Given the description of an element on the screen output the (x, y) to click on. 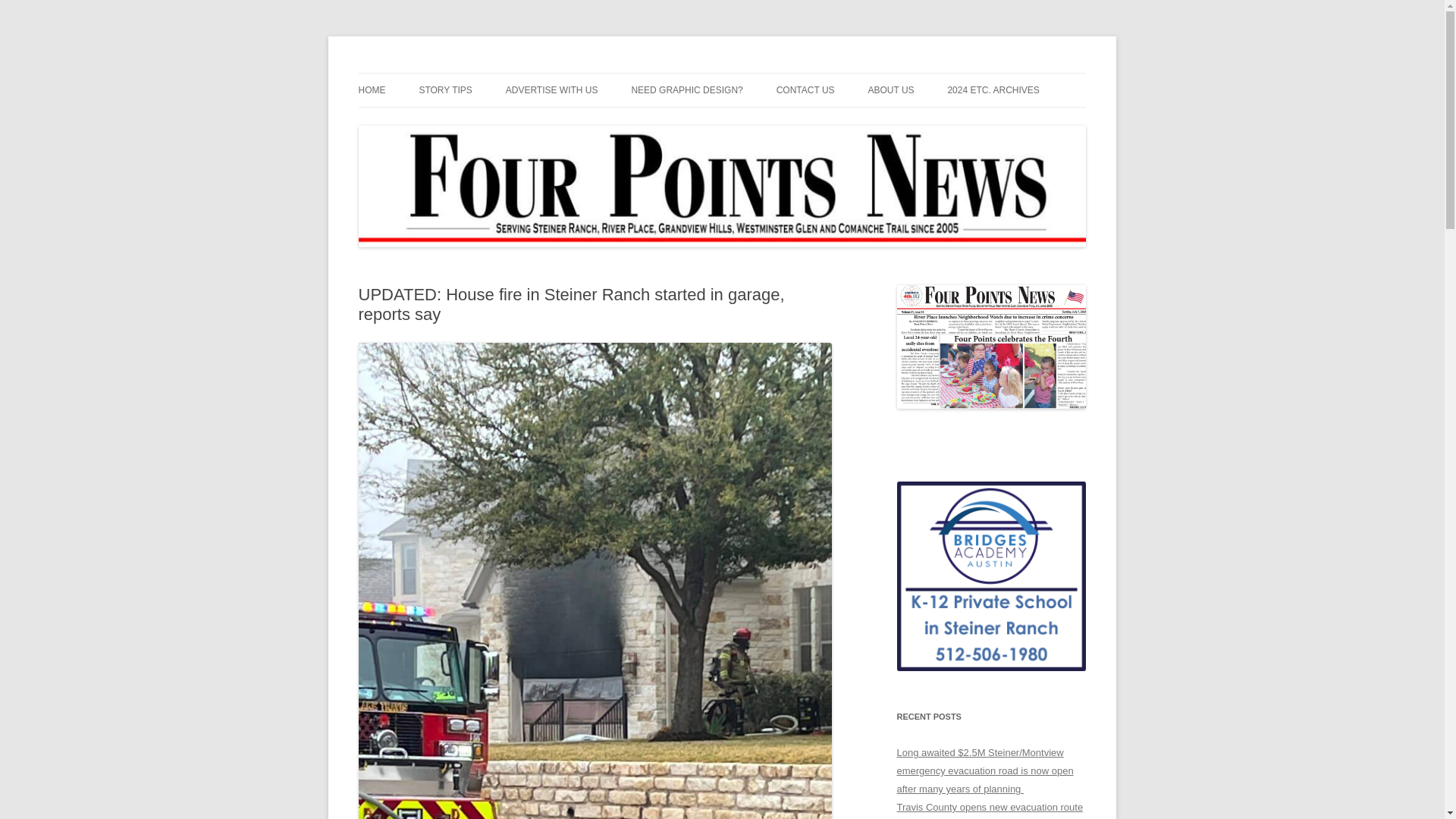
NEED GRAPHIC DESIGN? (686, 90)
ABOUT US (890, 90)
2024 ETC. ARCHIVES (993, 90)
CONTACT US (805, 90)
ADVERTISE WITH US (551, 90)
STORY TIPS (445, 90)
